Given the description of an element on the screen output the (x, y) to click on. 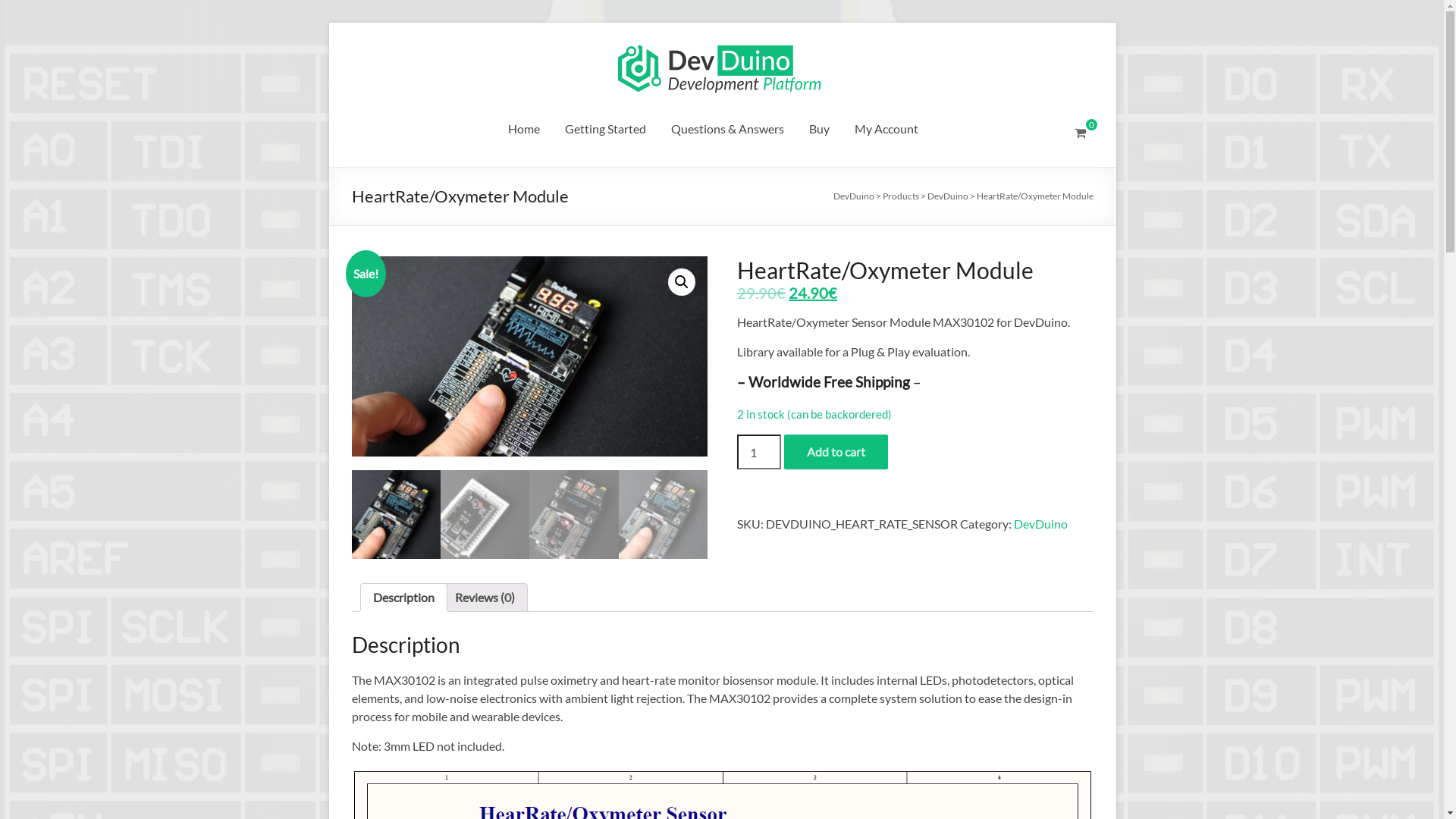
Add to cart Element type: text (836, 451)
0 Element type: text (1079, 132)
Qty Element type: hover (759, 451)
Reviews (0) Element type: text (484, 597)
DevDuino Element type: text (906, 54)
DevDuino Element type: text (1040, 523)
DevDuino Element type: text (852, 195)
Products Element type: text (900, 195)
Questions & Answers Element type: text (726, 130)
IMG_0170 Element type: hover (529, 356)
DevDuino Element type: text (946, 195)
My Account Element type: text (885, 130)
Buy Element type: text (818, 130)
Description Element type: text (403, 597)
Home Element type: text (523, 130)
Getting Started Element type: text (604, 130)
